Given the description of an element on the screen output the (x, y) to click on. 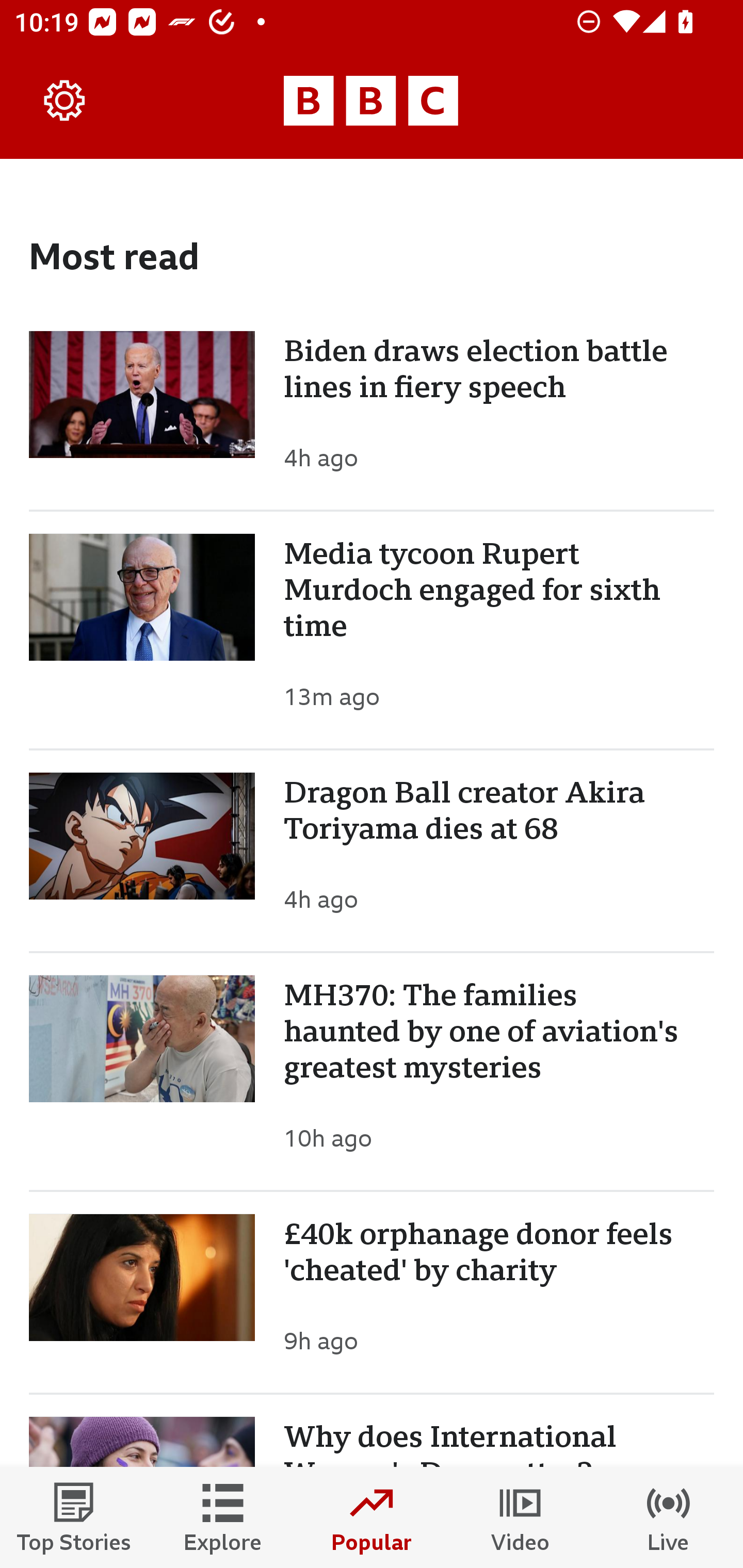
Settings (64, 100)
Top Stories (74, 1517)
Explore (222, 1517)
Video (519, 1517)
Live (668, 1517)
